Given the description of an element on the screen output the (x, y) to click on. 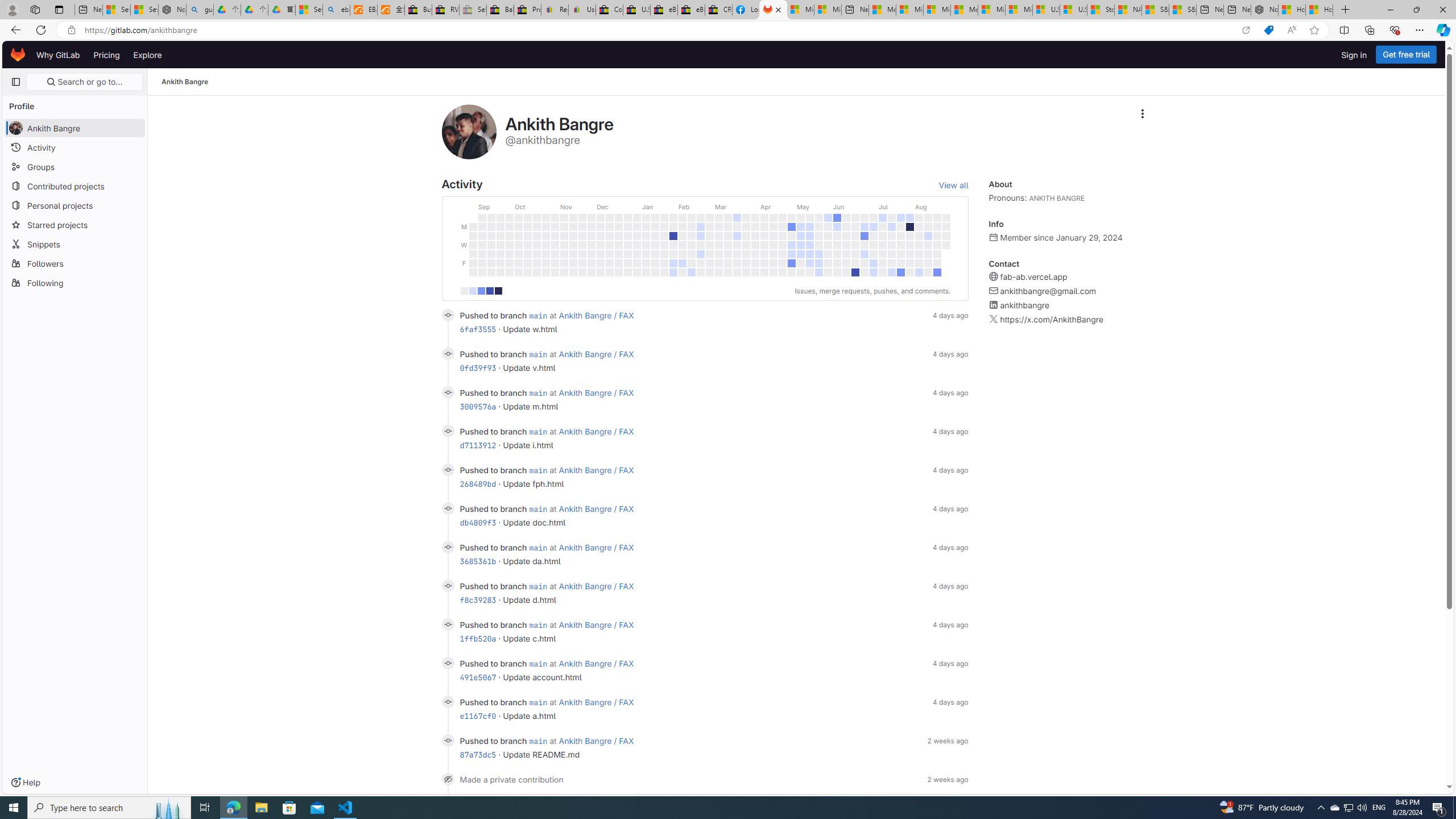
S&P 500, Nasdaq end lower, weighed by Nvidia dip | Watch (1182, 9)
e1167cf0 (478, 715)
Baby Keepsakes & Announcements for sale | eBay (499, 9)
Buy Auto Parts & Accessories | eBay (418, 9)
User Privacy Notice | eBay (581, 9)
Snippets (74, 244)
Why GitLab (58, 54)
